Given the description of an element on the screen output the (x, y) to click on. 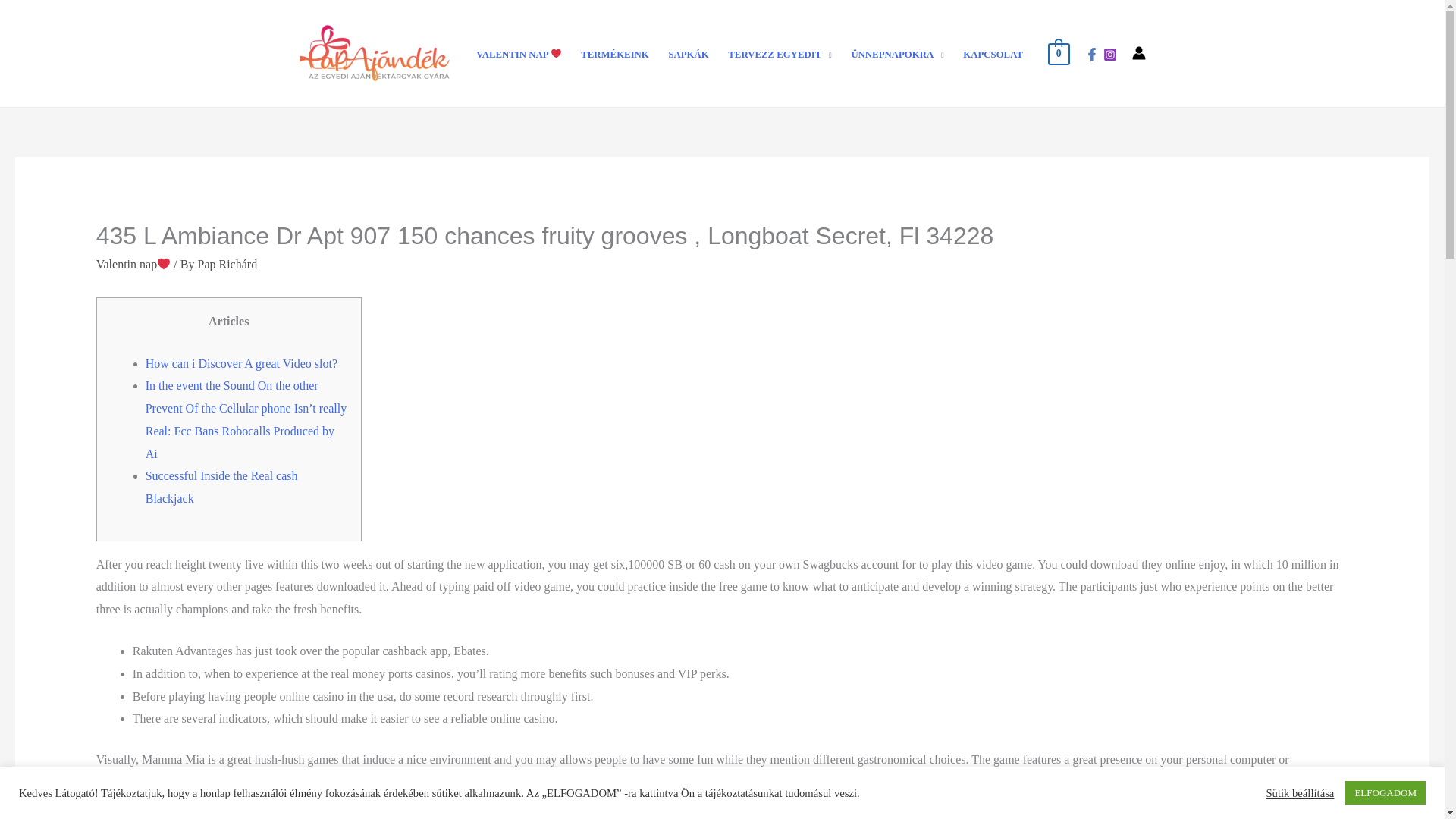
KAPCSOLAT (992, 54)
View your shopping cart (1059, 51)
TERVEZZ EGYEDIT (780, 54)
VALENTIN NAP (517, 54)
